Given the description of an element on the screen output the (x, y) to click on. 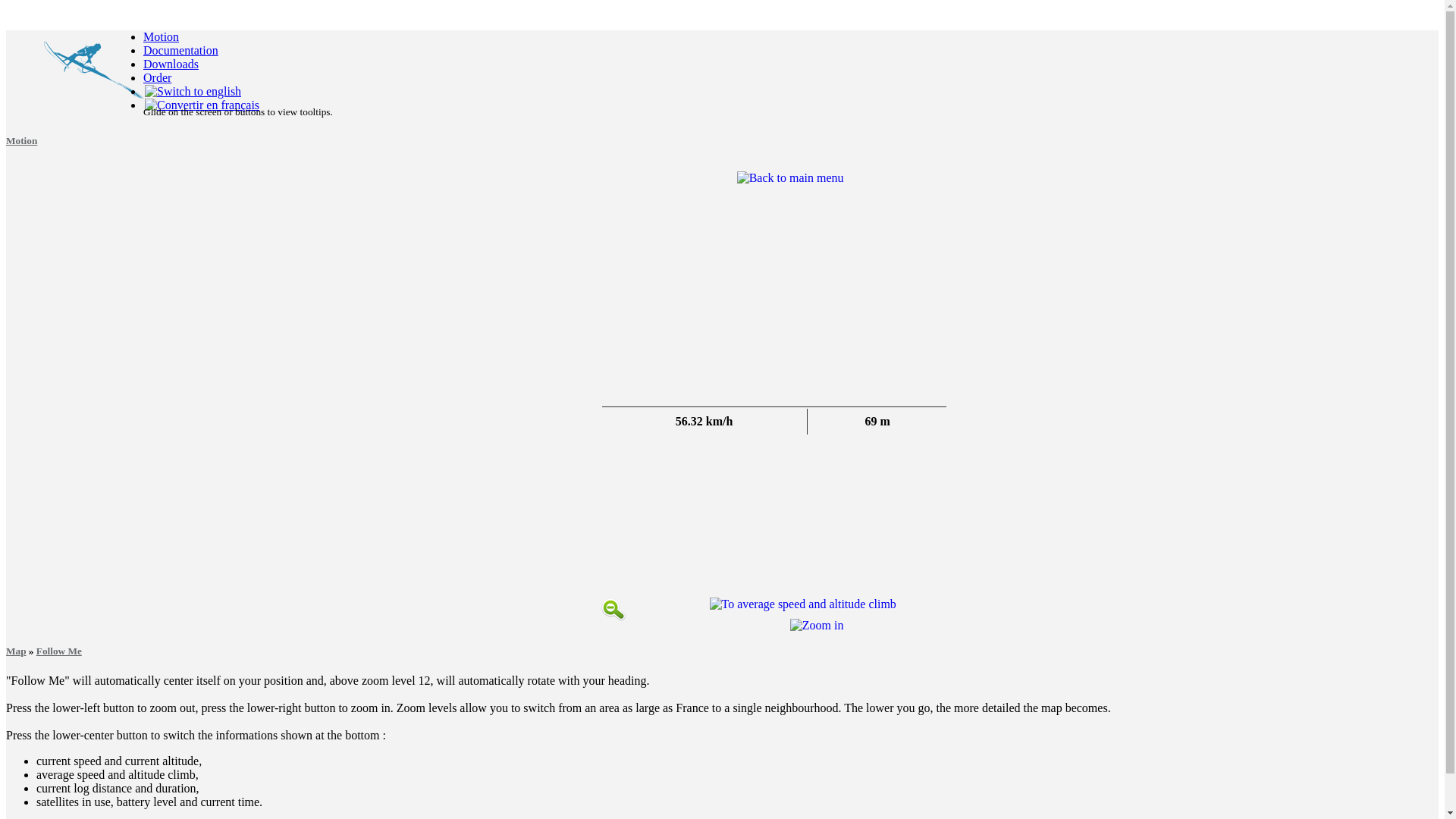
Documentation (180, 50)
Switch to english (192, 91)
Zoom in (817, 625)
Follow Me (58, 650)
Order (156, 77)
Back to main menu (790, 178)
Motion (21, 140)
Downloads (170, 63)
Zoom out (611, 609)
Current speed (705, 421)
To average speed and altitude climb (803, 603)
Map (15, 650)
Motion (160, 36)
Switch to english (192, 91)
Current altitude (877, 421)
